Given the description of an element on the screen output the (x, y) to click on. 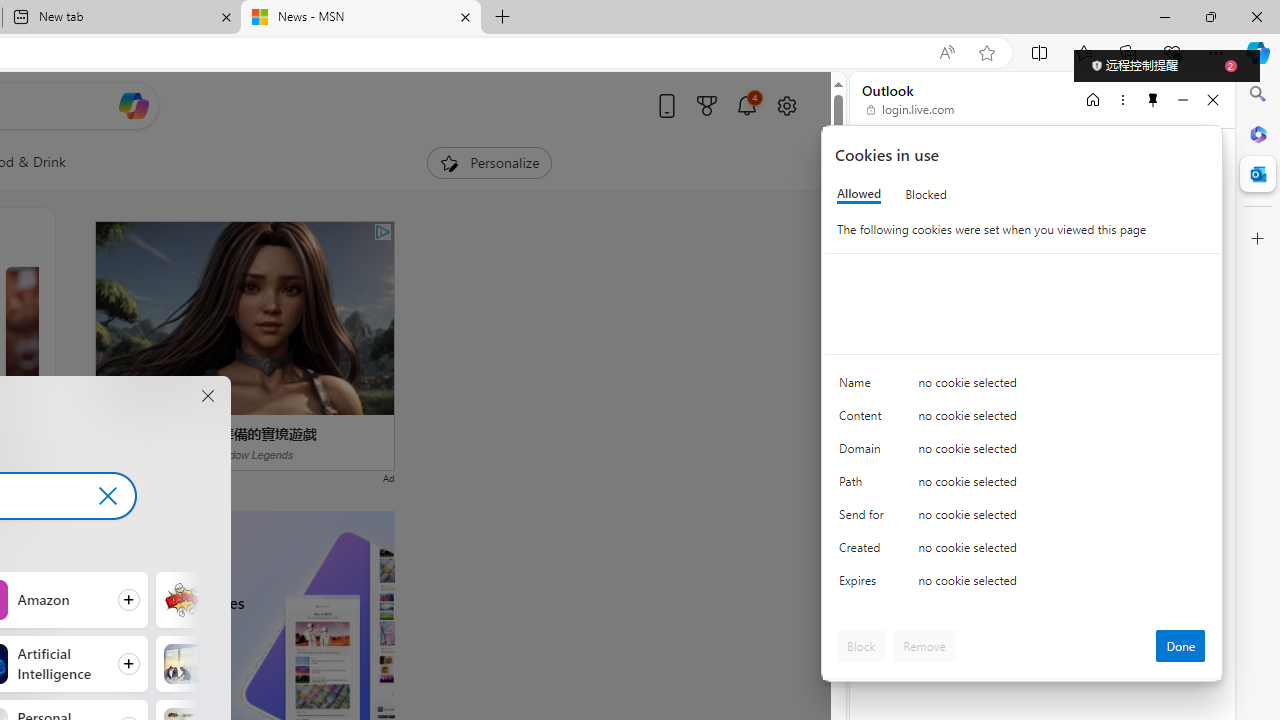
Home (1093, 99)
Outlook (1258, 174)
Microsoft 365 (1258, 133)
New Tab (502, 17)
171 Like (38, 500)
Created (864, 552)
Clear (107, 495)
Microsoft (927, 164)
Customize (1258, 239)
Microsoft rewards (707, 105)
Minimize (1182, 99)
Remove (924, 645)
Notifications (746, 105)
